Given the description of an element on the screen output the (x, y) to click on. 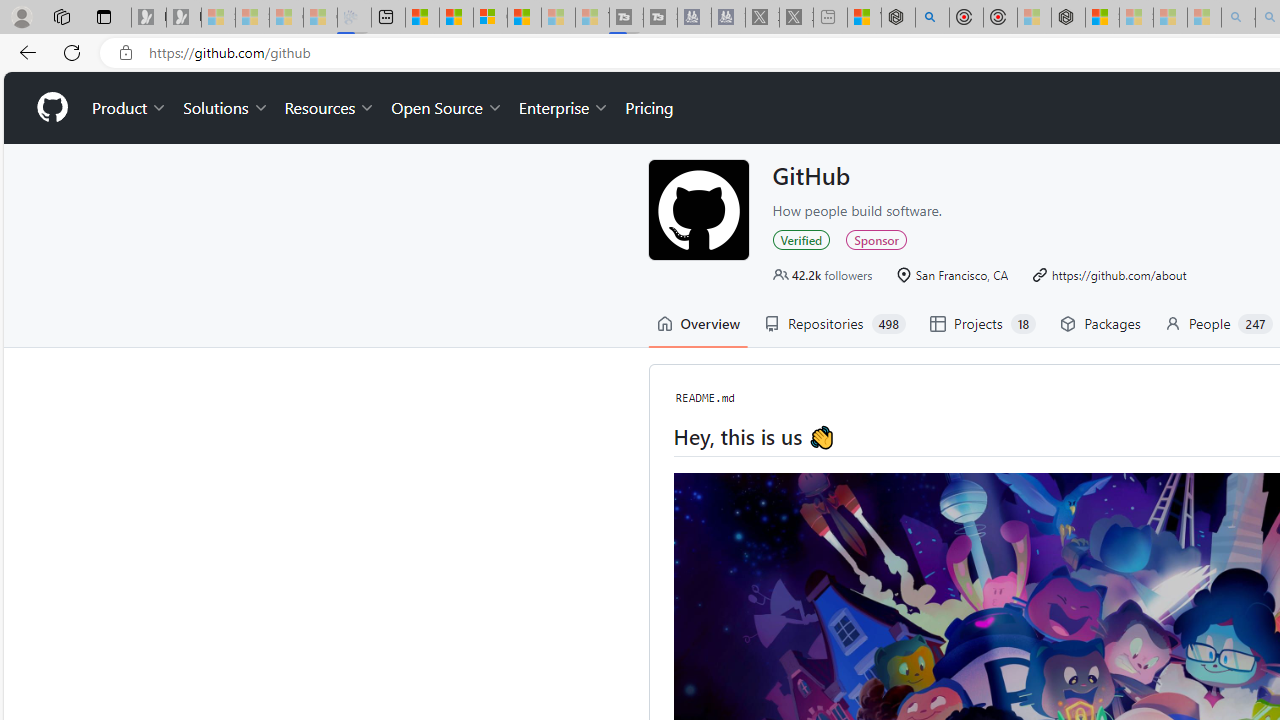
Repositories498 (834, 323)
Product (130, 107)
